Given the description of an element on the screen output the (x, y) to click on. 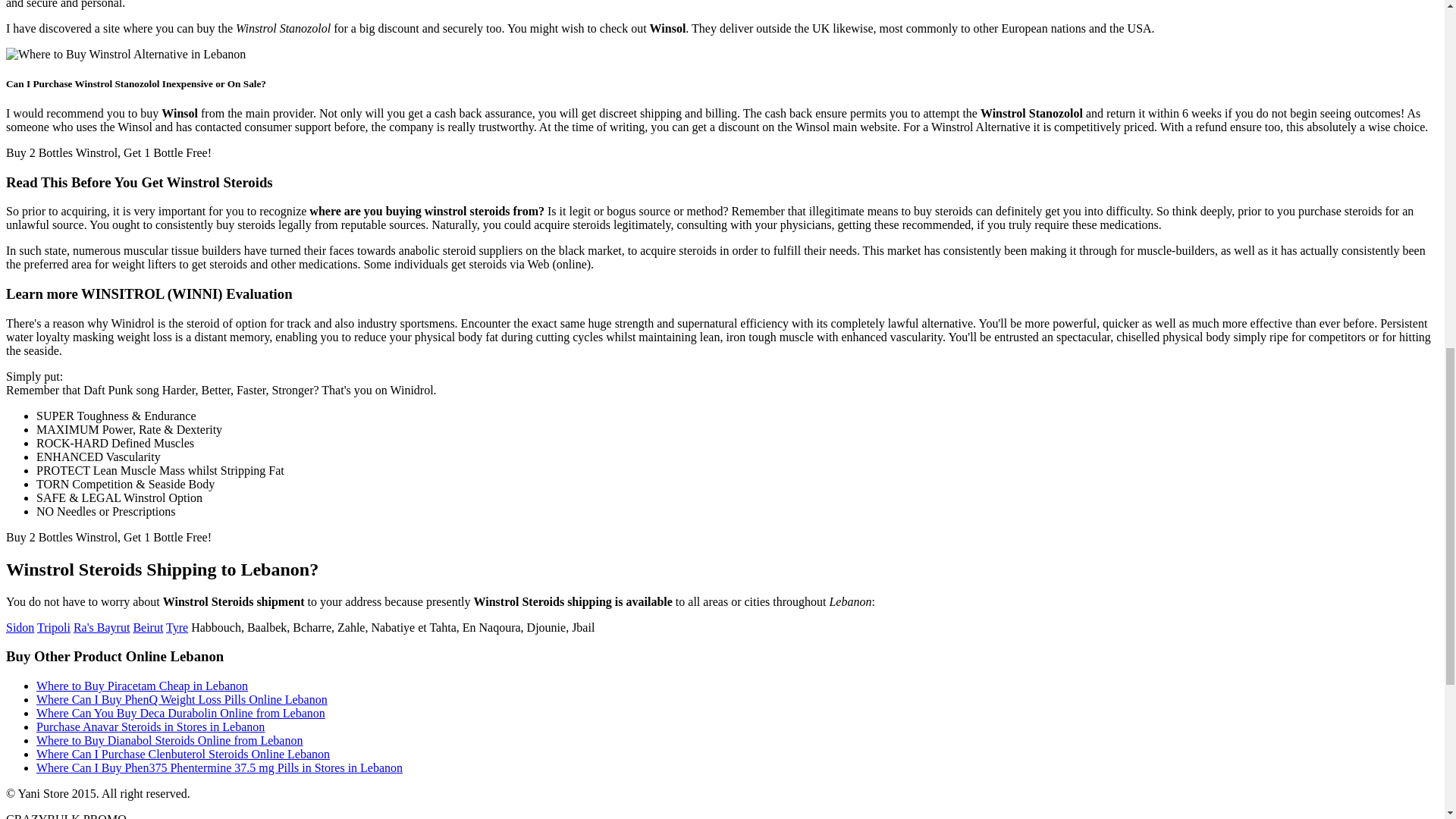
Purchase Winstrol Steroids Online Beirut (147, 626)
Tyre (176, 626)
Where to Buy Piracetam Cheap in Lebanon (141, 685)
Tripoli (53, 626)
Where to Buy Winstrol Alternative in Lebanon (125, 54)
Purchase Winstrol Steroids Online Tripoli (53, 626)
Where Can I Purchase Clenbuterol Steroids Online Lebanon (183, 753)
Purchase Anavar Steroids in Stores in Lebanon (150, 726)
Where to Buy Dianabol Steroids Online from Lebanon (169, 739)
Where Can You Buy Deca Durabolin Online from Lebanon (180, 712)
Sidon (19, 626)
Where Can I Buy PhenQ Weight Loss Pills Online Lebanon (181, 698)
Where Can You Buy Deca Durabolin Online from Lebanon (180, 712)
Purchase Winstrol Steroids Online Ra's Bayrut (101, 626)
